Given the description of an element on the screen output the (x, y) to click on. 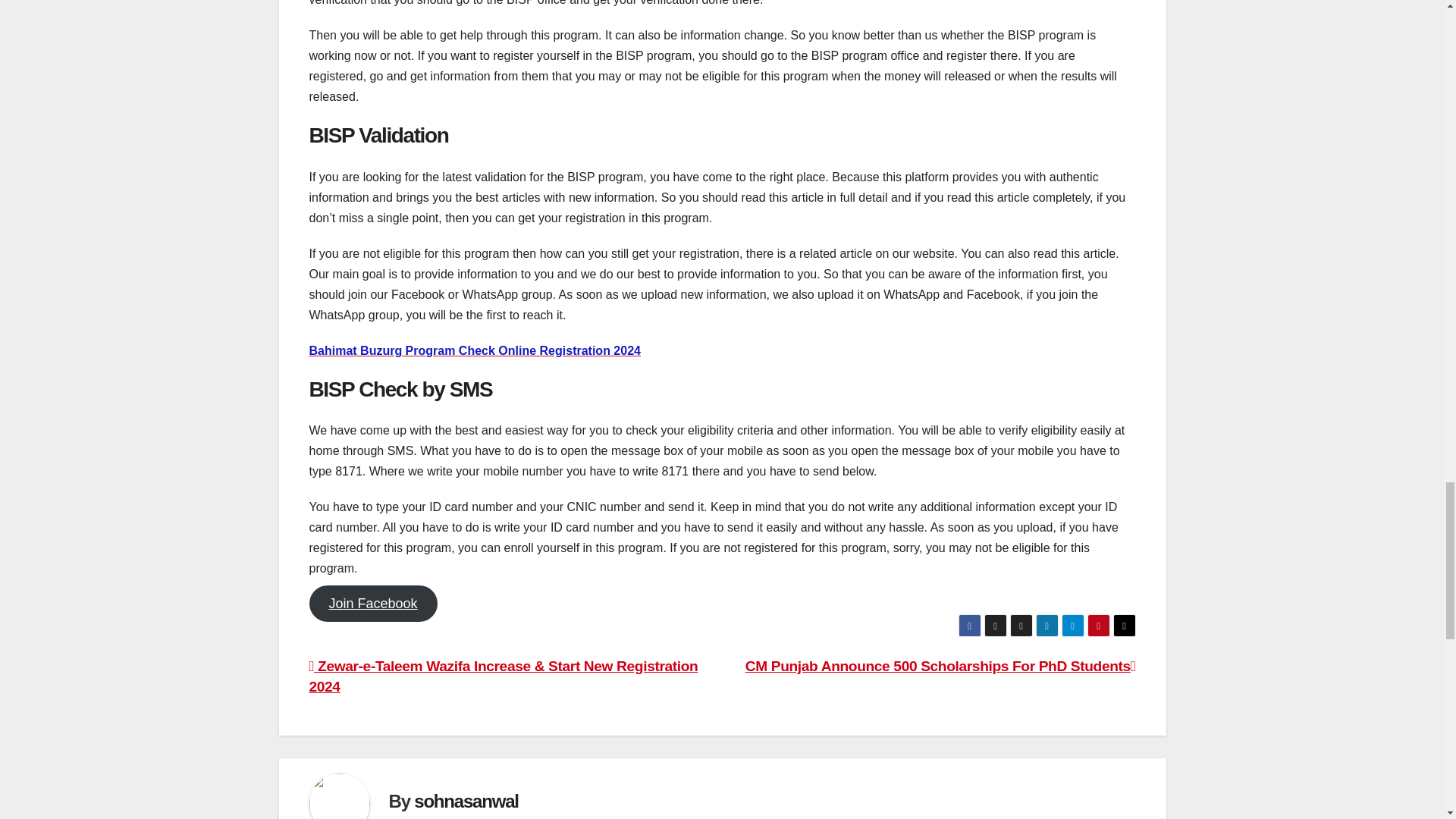
Bahimat Buzurg Program Check Online Registration 2024 (474, 350)
Join Facebook (373, 603)
CM Punjab Announce 500 Scholarships For PhD Students (940, 666)
